Given the description of an element on the screen output the (x, y) to click on. 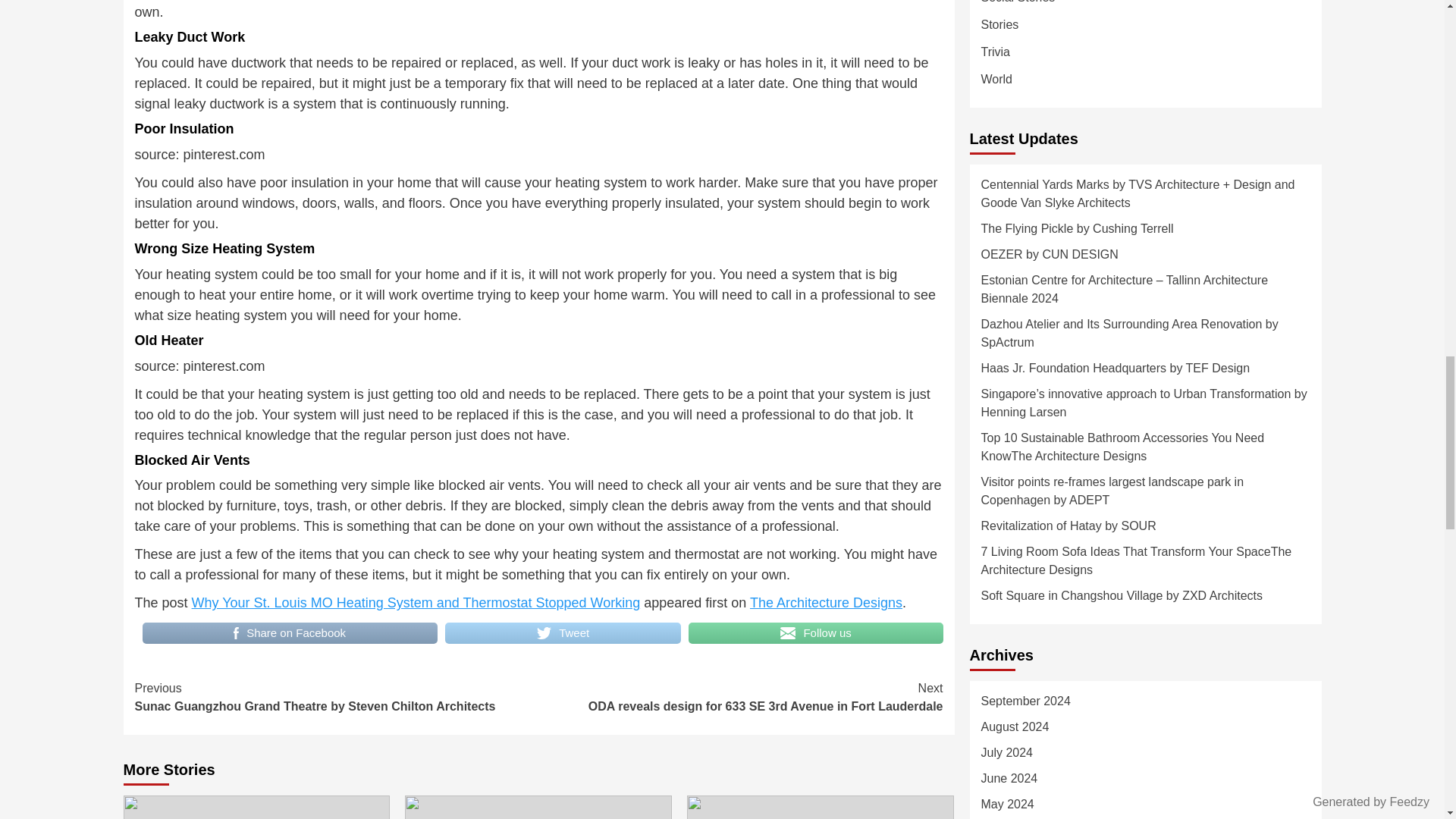
The Architecture Designs (825, 602)
Share on Facebook (290, 632)
Tweet (563, 632)
Follow us (815, 632)
